Given the description of an element on the screen output the (x, y) to click on. 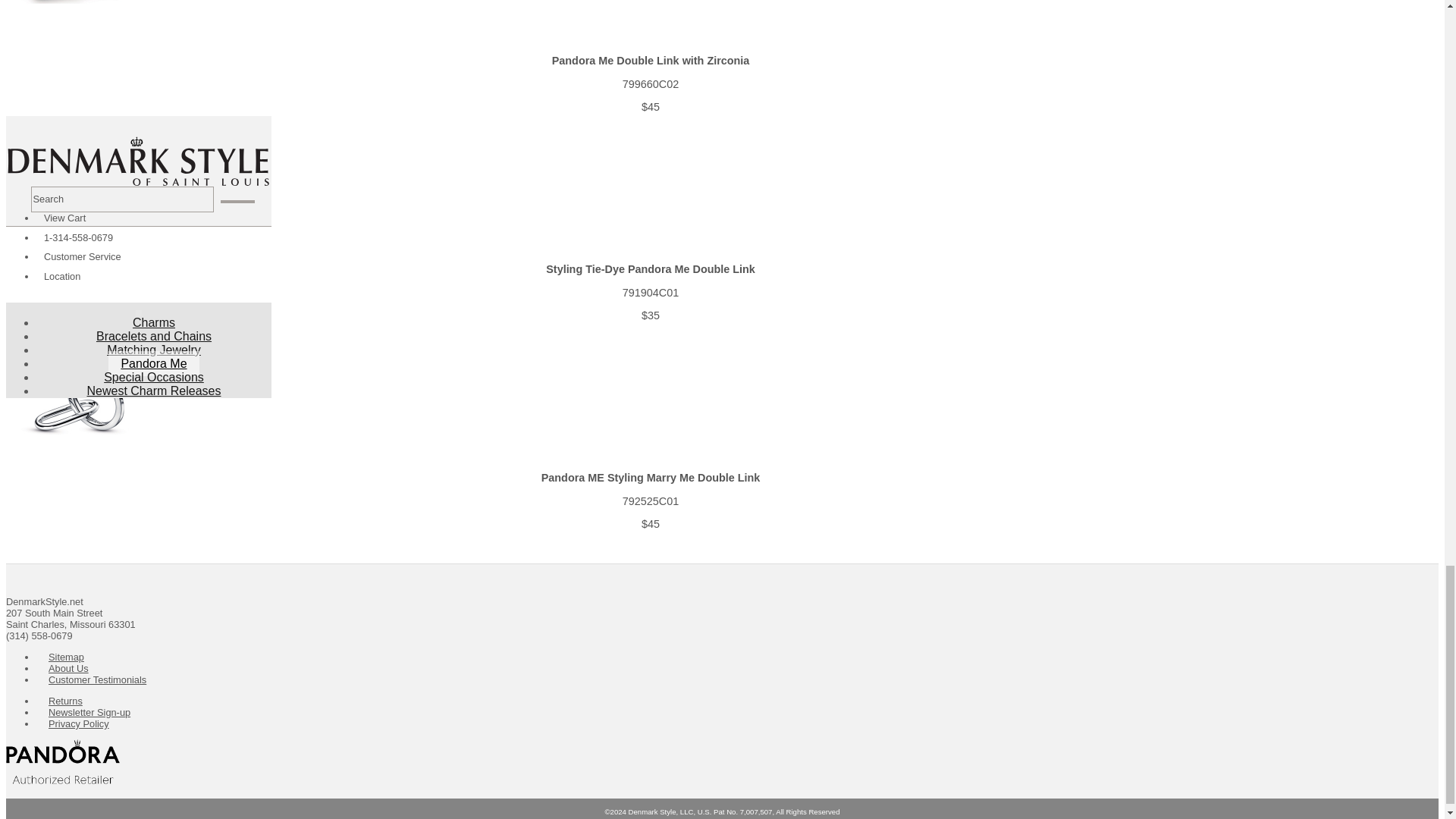
Sitemap (66, 660)
Returns (65, 703)
Privacy Policy (78, 726)
Customer Testimonials (97, 682)
Newsletter Sign-up (89, 714)
About Us (68, 671)
